Given the description of an element on the screen output the (x, y) to click on. 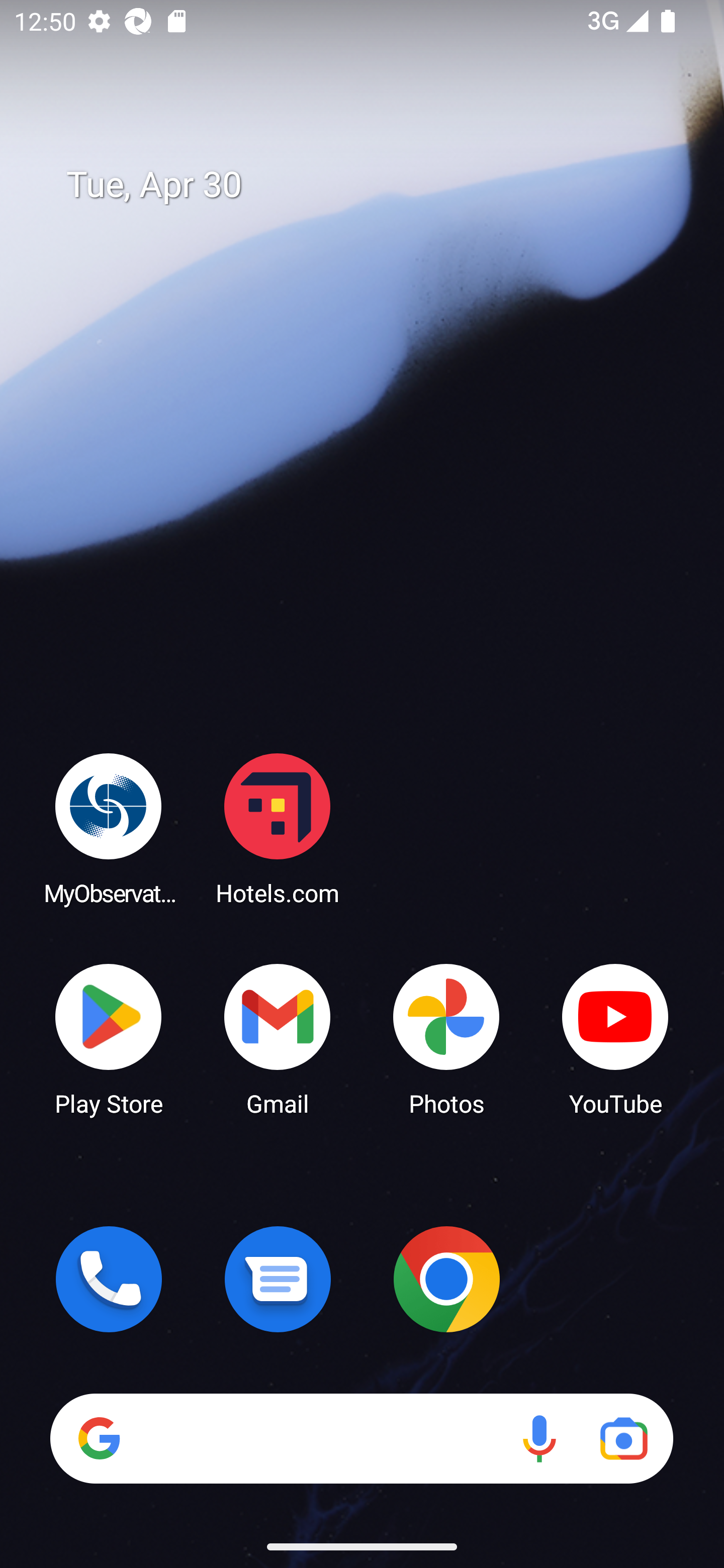
Tue, Apr 30 (375, 184)
MyObservatory (108, 828)
Hotels.com (277, 828)
Play Store (108, 1038)
Gmail (277, 1038)
Photos (445, 1038)
YouTube (615, 1038)
Phone (108, 1279)
Messages (277, 1279)
Chrome (446, 1279)
Voice search (539, 1438)
Google Lens (623, 1438)
